Given the description of an element on the screen output the (x, y) to click on. 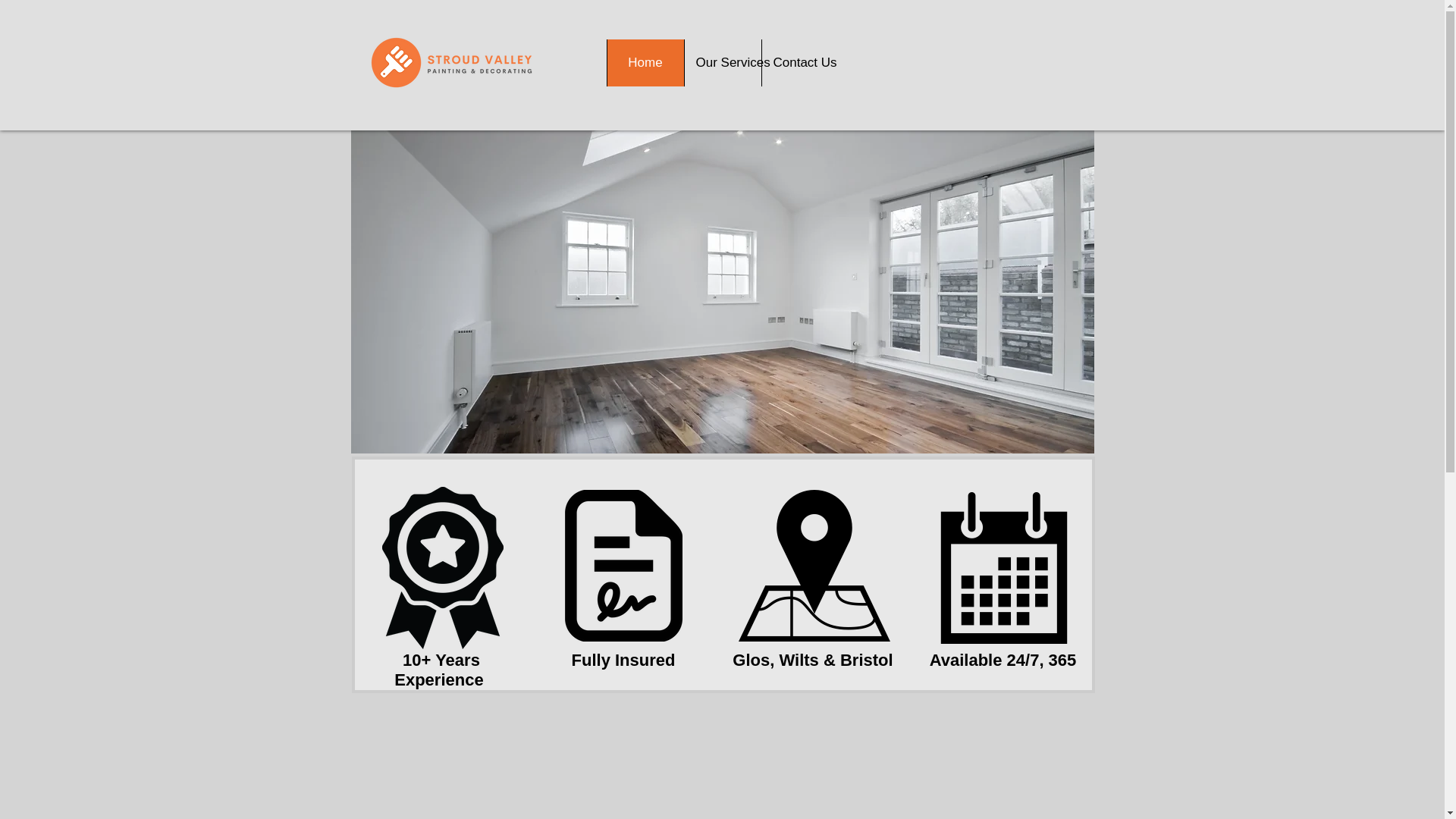
Contact Us (799, 62)
Our Services (722, 62)
Home (645, 62)
